Given the description of an element on the screen output the (x, y) to click on. 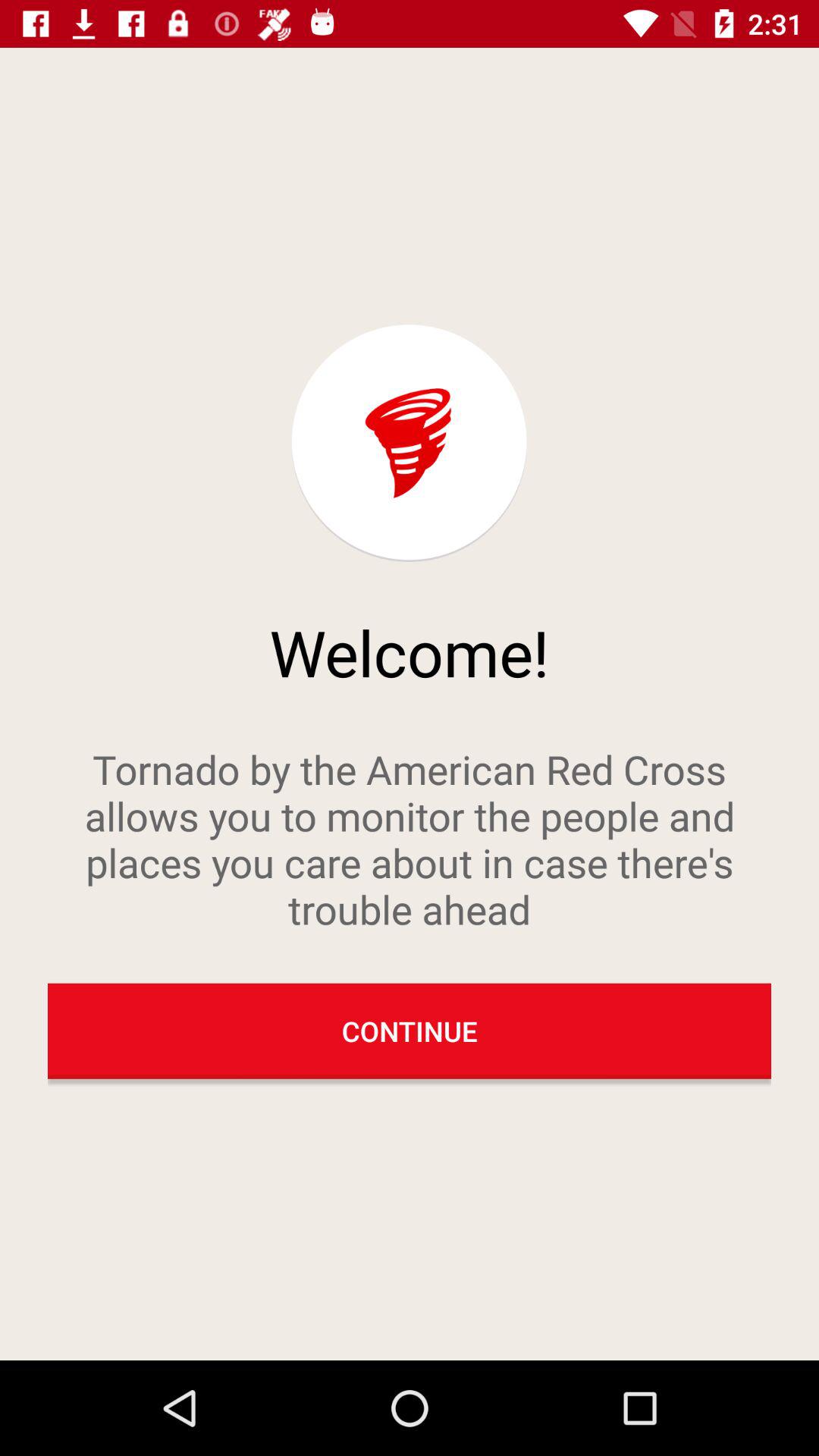
tap item below tornado by the app (409, 1030)
